Given the description of an element on the screen output the (x, y) to click on. 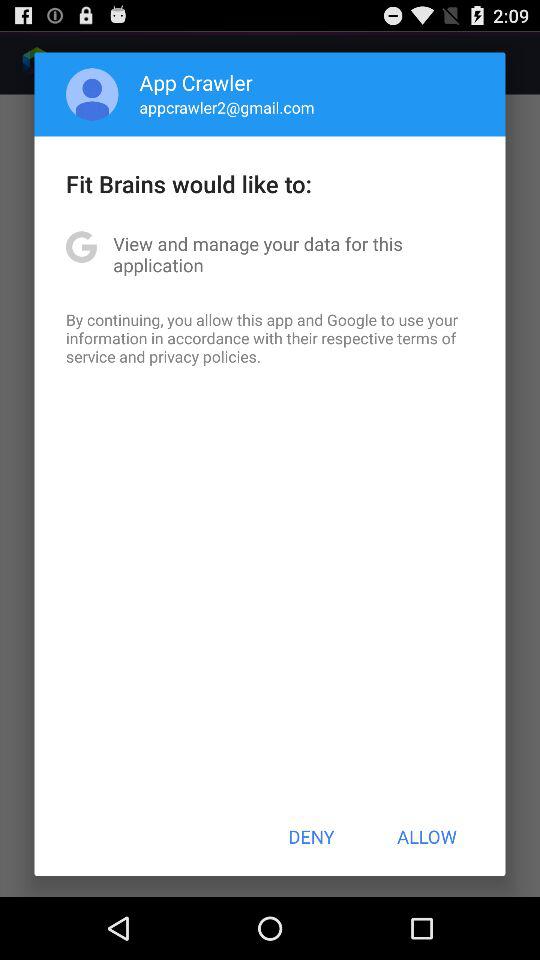
turn off the item below by continuing you icon (311, 836)
